Given the description of an element on the screen output the (x, y) to click on. 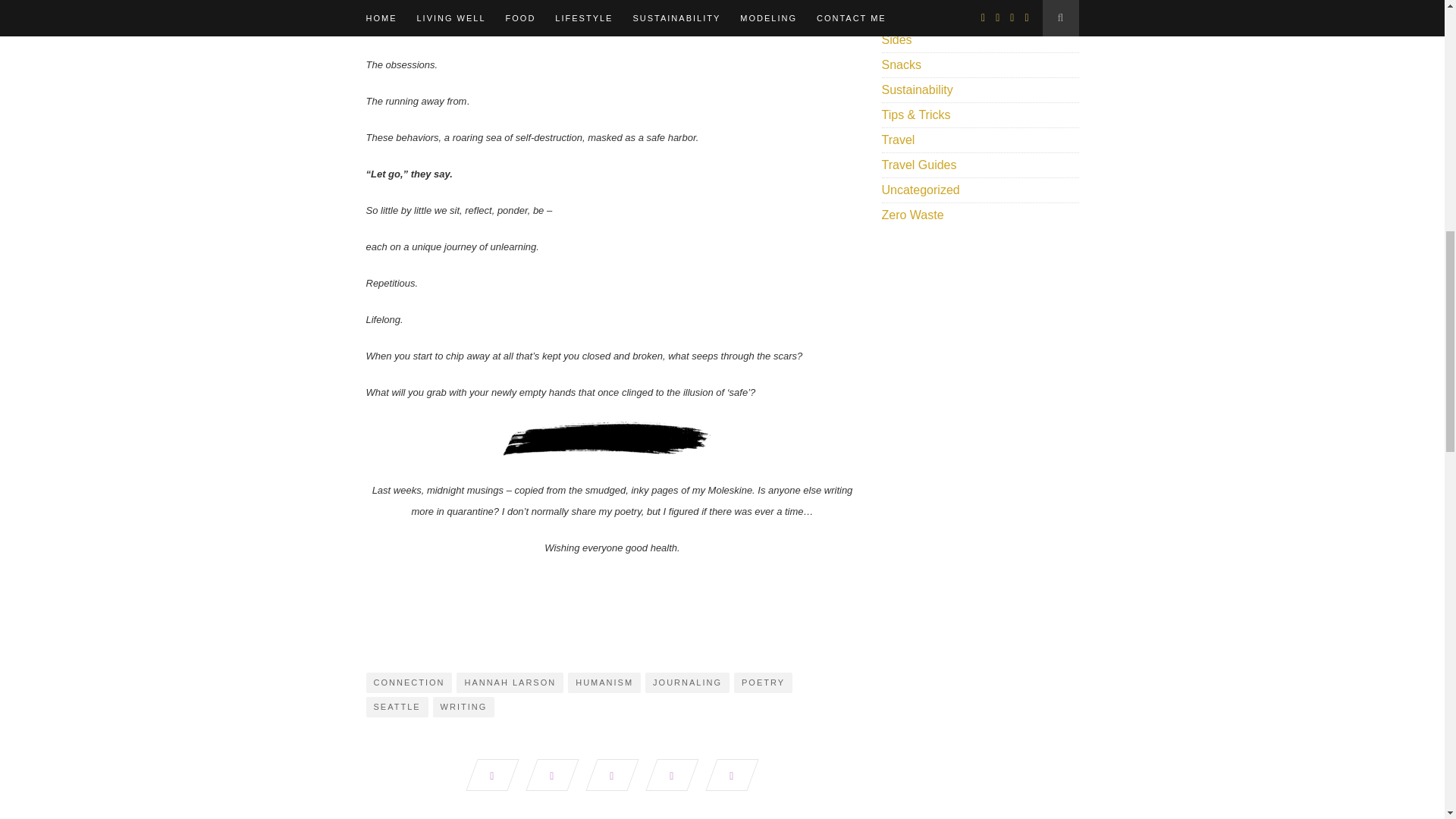
HUMANISM (603, 682)
SEATTLE (396, 706)
JOURNALING (687, 682)
HANNAH LARSON (510, 682)
WRITING (463, 706)
CONNECTION (408, 682)
POETRY (762, 682)
